Given the description of an element on the screen output the (x, y) to click on. 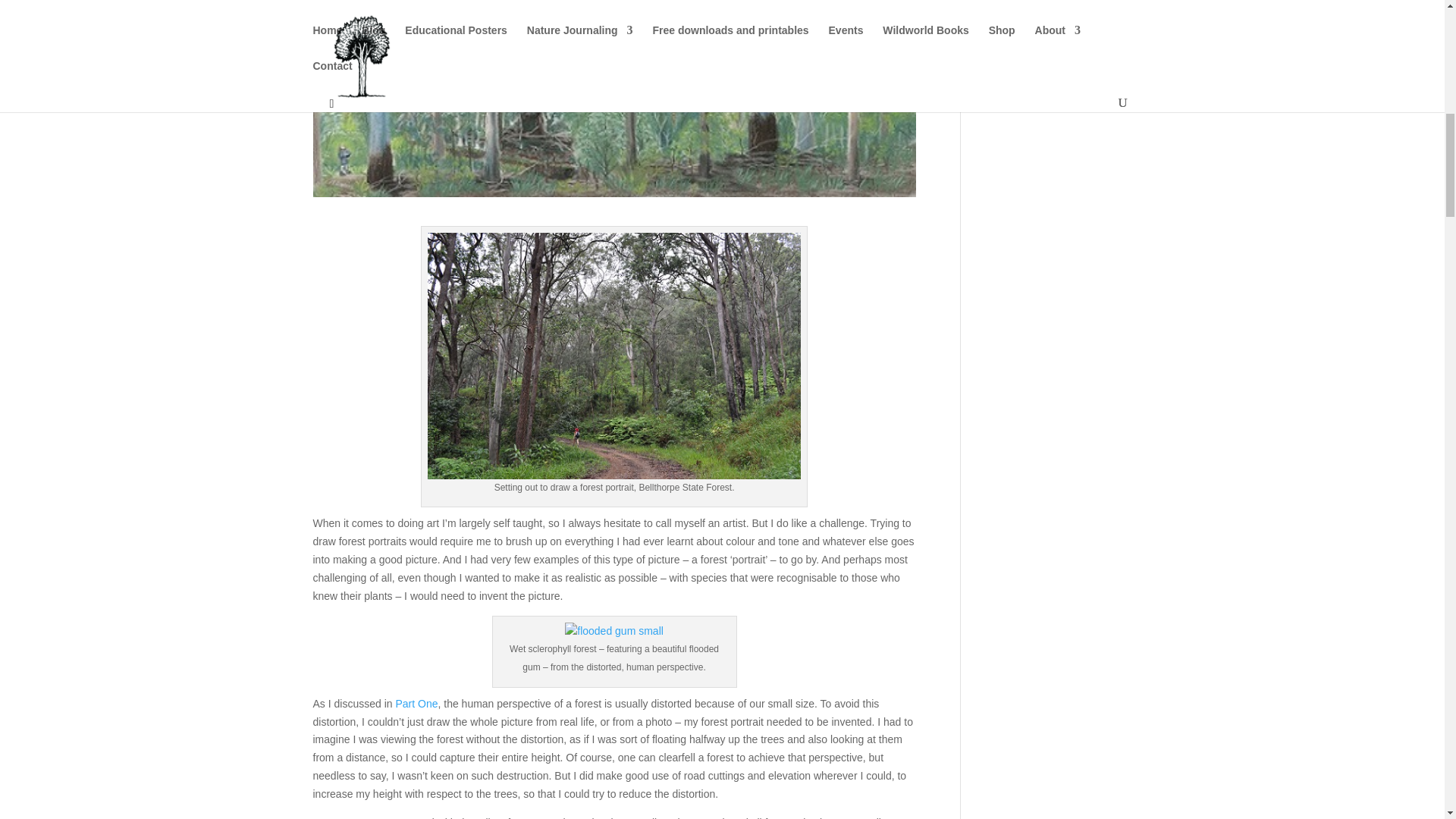
Part One (416, 703)
